Given the description of an element on the screen output the (x, y) to click on. 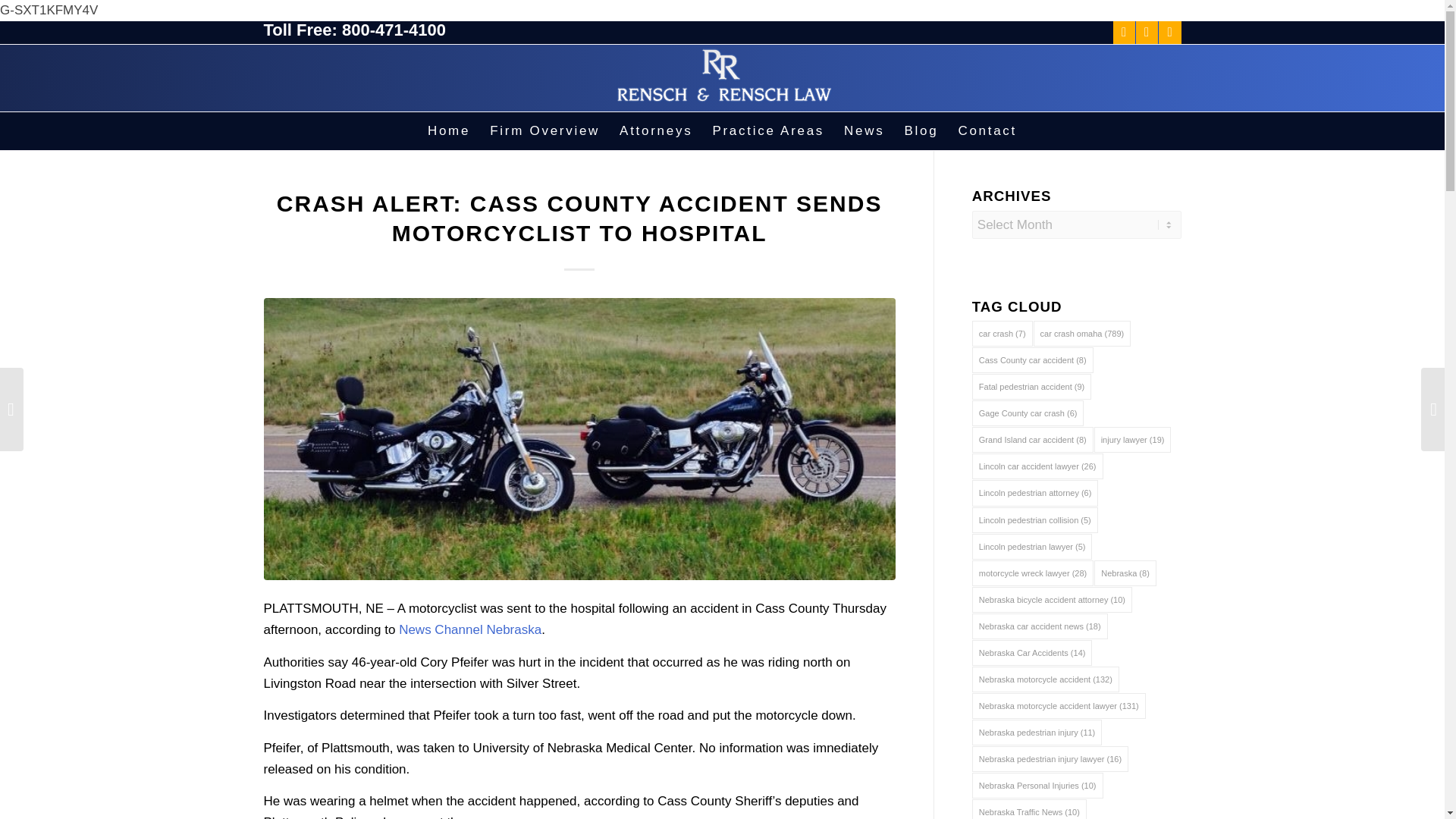
Practice Areas (767, 130)
Twitter (1146, 32)
Facebook (1124, 32)
logo-rensch-law (722, 77)
Toll Free: 800-471-4100 (354, 29)
Home (448, 130)
Attorneys (655, 130)
LinkedIn (1169, 32)
Firm Overview (545, 130)
